Given the description of an element on the screen output the (x, y) to click on. 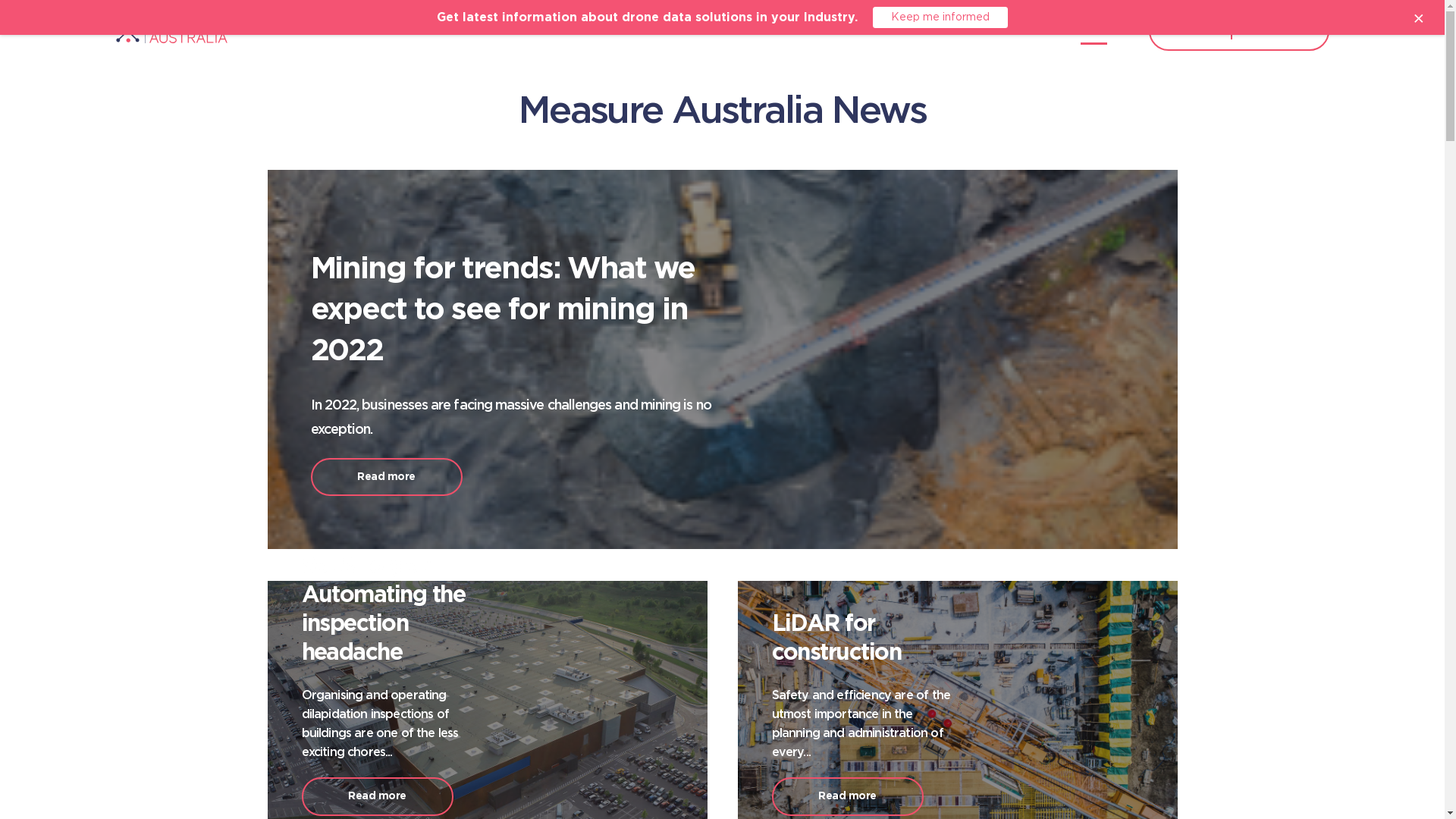
About Element type: text (1012, 30)
Services Element type: text (708, 30)
Industries Element type: text (805, 30)
News Element type: text (1093, 30)
Case Studies Element type: text (913, 30)
1300 769 242 Element type: text (1279, 30)
Keep me informed Element type: text (939, 17)
Contact Us Element type: text (1191, 30)
